Given the description of an element on the screen output the (x, y) to click on. 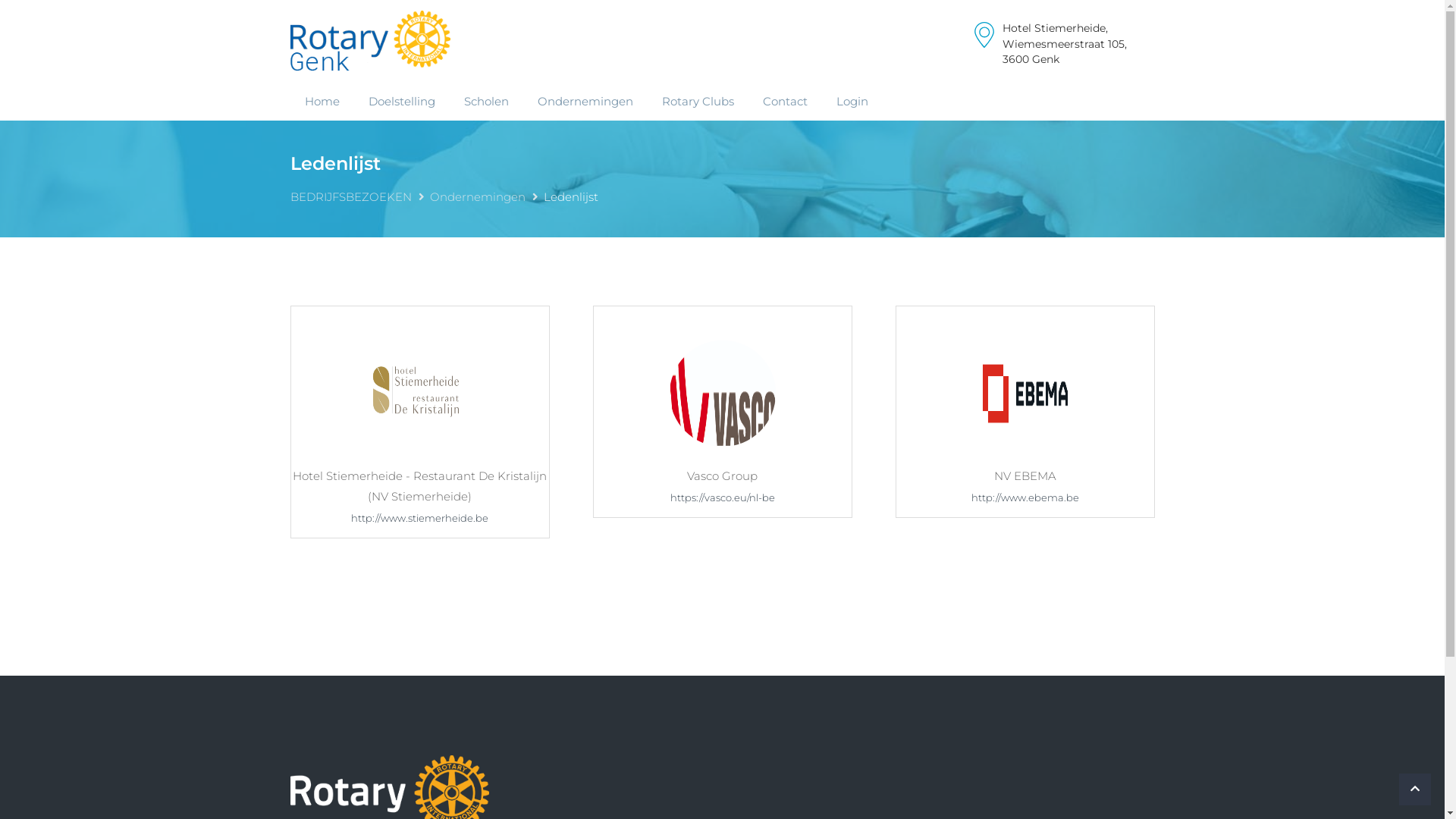
BEDRIJFSBEZOEKEN Element type: text (350, 196)
Ondernemingen Element type: text (476, 196)
Login Element type: text (852, 100)
Scholen Element type: text (485, 100)
http://www.stiemerheide.be Element type: text (419, 517)
NV EBEMA Element type: hover (1024, 392)
https://vasco.eu/nl-be Element type: text (722, 497)
http://www.ebema.be Element type: text (1024, 497)
Contact Element type: text (784, 100)
Ondernemingen Element type: text (585, 100)
Rotary Clubs Element type: text (697, 100)
Vasco Group Element type: hover (722, 392)
Doelstelling Element type: text (400, 100)
Home Element type: text (321, 100)
